Given the description of an element on the screen output the (x, y) to click on. 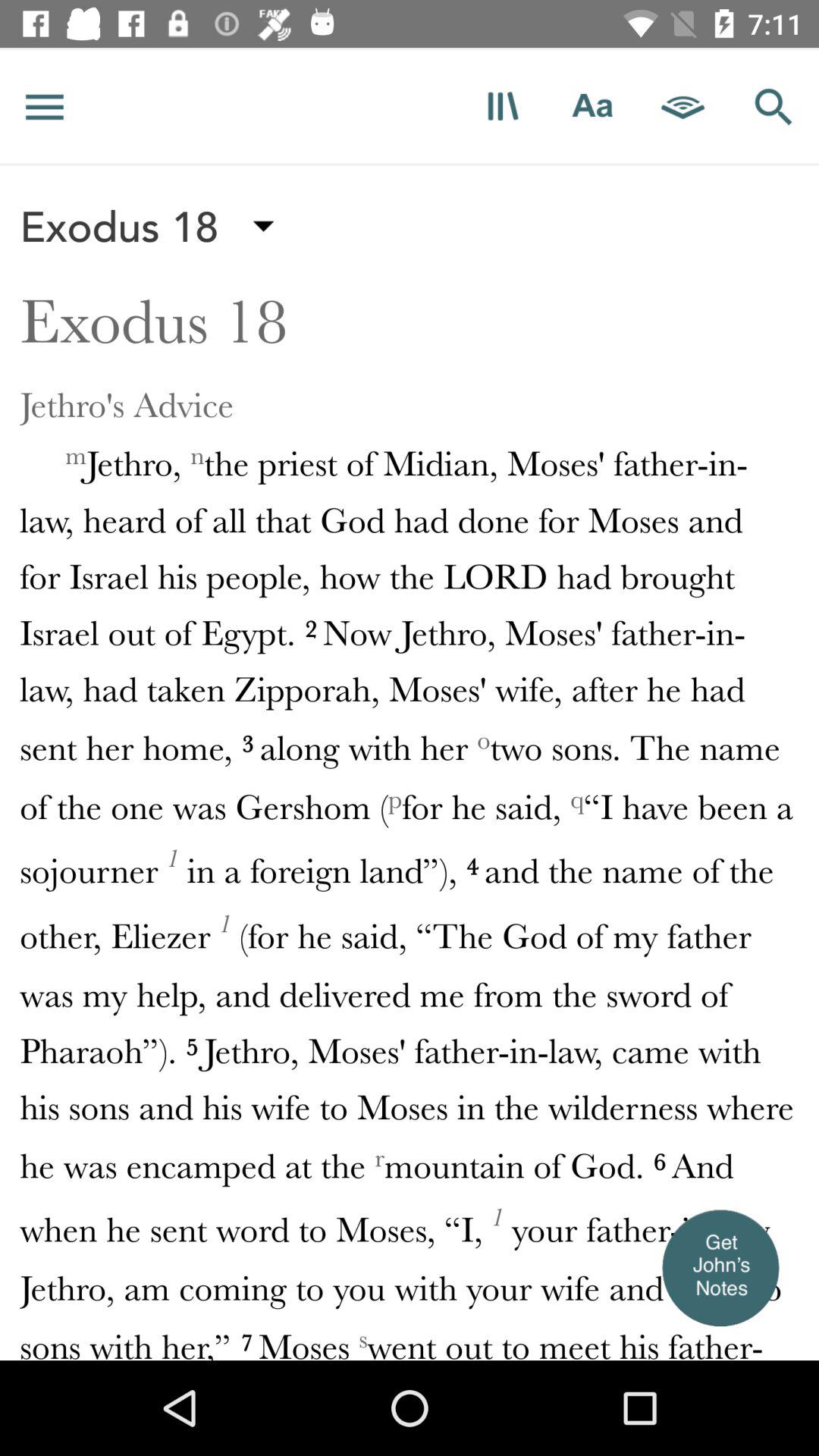
get john 's notes (720, 1267)
